Given the description of an element on the screen output the (x, y) to click on. 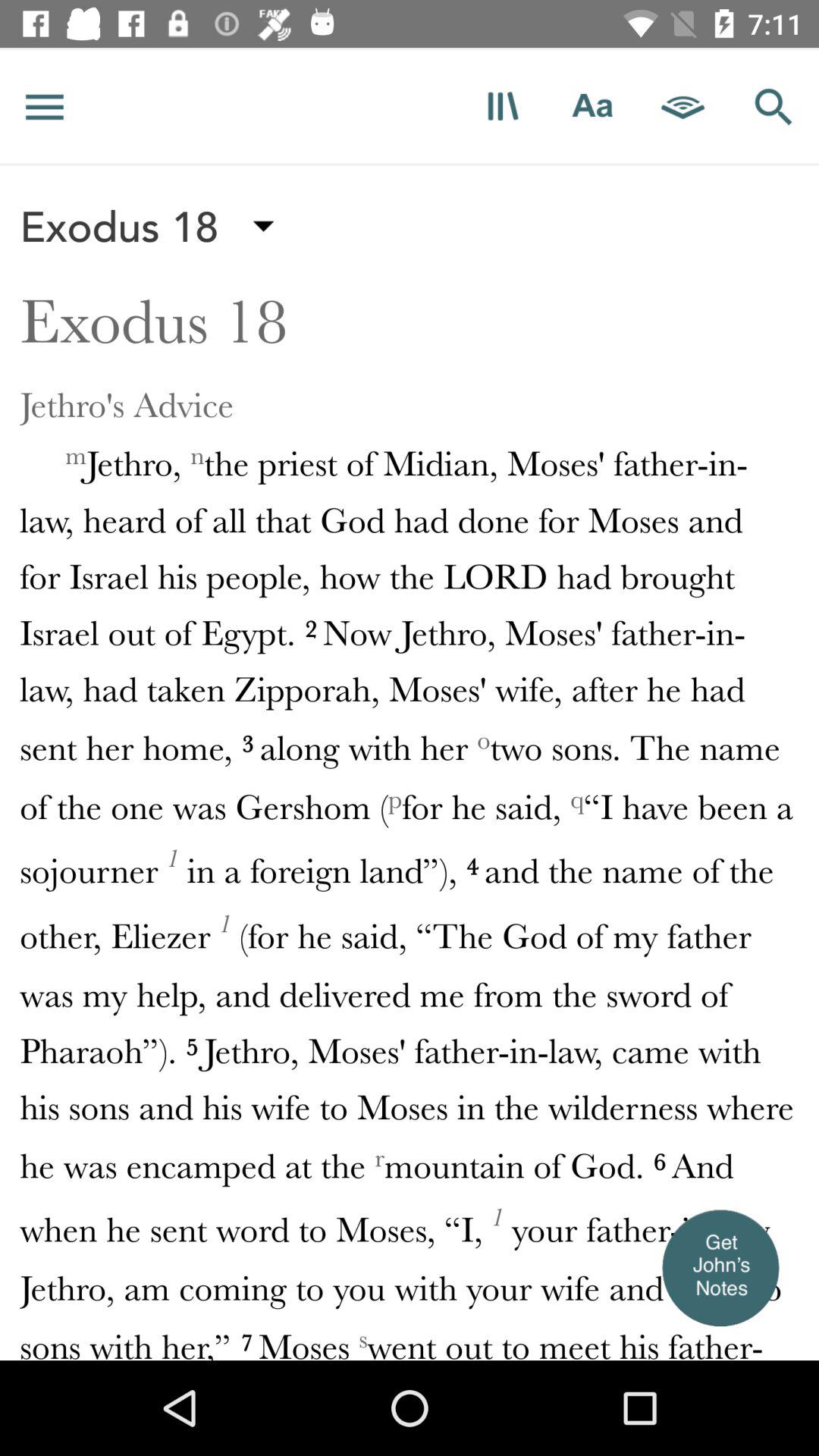
get john 's notes (720, 1267)
